Given the description of an element on the screen output the (x, y) to click on. 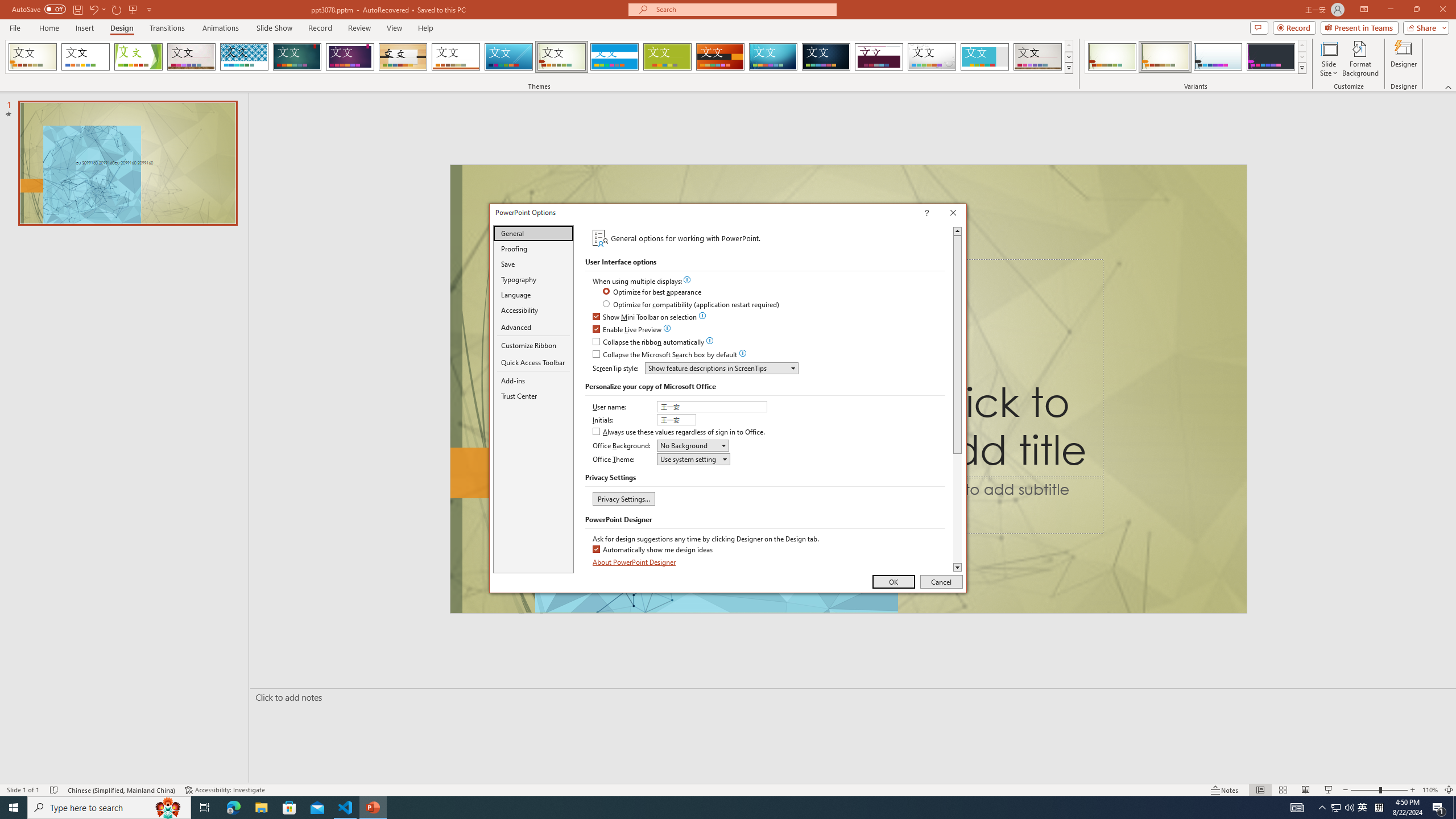
Proofing (533, 248)
Always use these values regardless of sign in to Office. (679, 432)
Line down (957, 567)
Themes (1068, 67)
Organic Loading Preview... (403, 56)
